Given the description of an element on the screen output the (x, y) to click on. 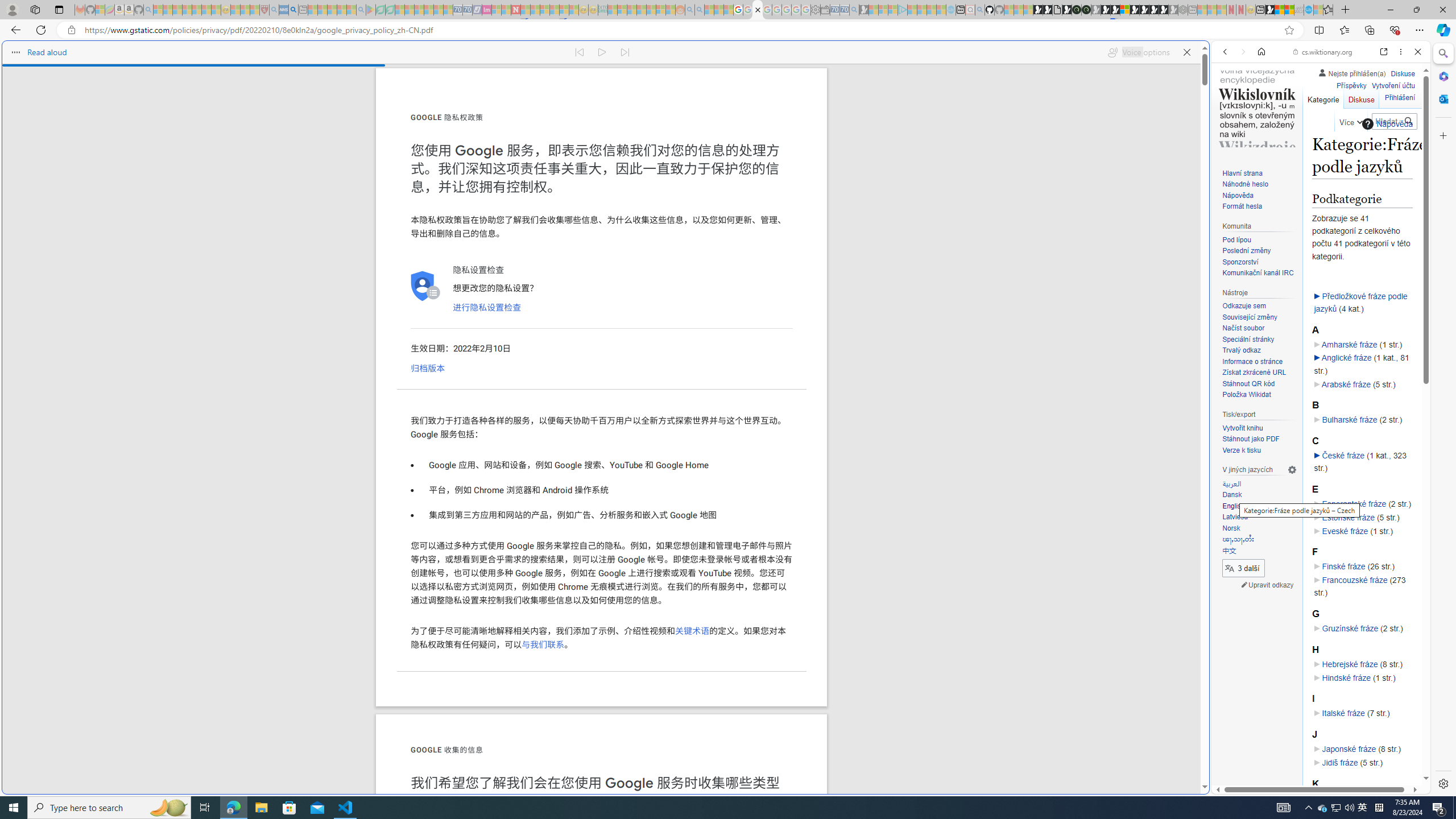
Trusted Community Engagement and Contributions | Guidelines (525, 9)
Services - Maintenance | Sky Blue Bikes - Sky Blue Bikes (1307, 9)
IMAGES (1262, 130)
Cheap Car Rentals - Save70.com - Sleeping (844, 9)
Earth has six continents not seven, radical new study claims (1288, 9)
New tab - Sleeping (1192, 9)
Frequently visited (965, 151)
